Given the description of an element on the screen output the (x, y) to click on. 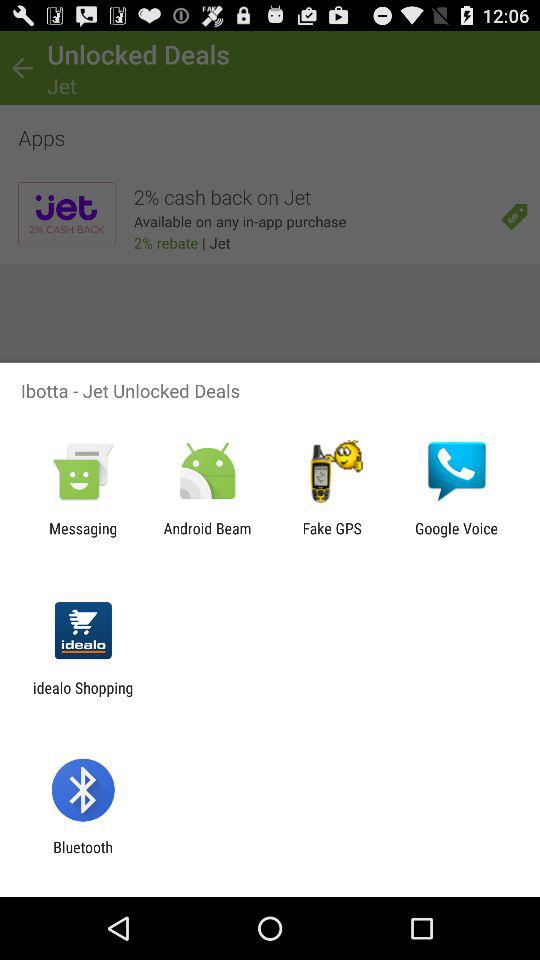
choose the icon to the left of the google voice icon (331, 537)
